Given the description of an element on the screen output the (x, y) to click on. 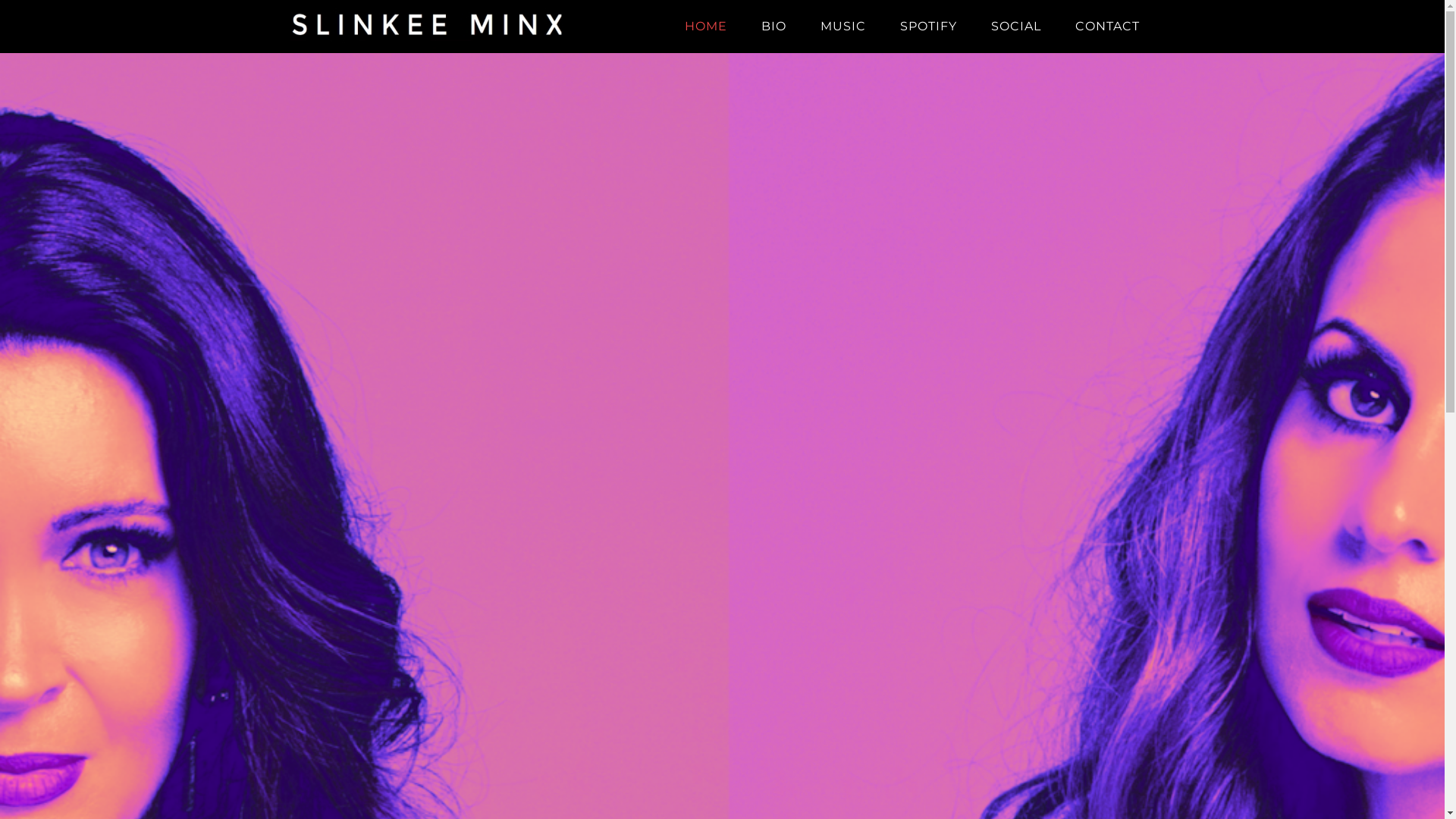
SOCIAL Element type: text (1015, 26)
BIO Element type: text (773, 26)
SLINKEE MINX Element type: text (425, 26)
MUSIC Element type: text (843, 26)
SPOTIFY Element type: text (927, 26)
CONTACT Element type: text (1107, 26)
HOME Element type: text (704, 26)
